Given the description of an element on the screen output the (x, y) to click on. 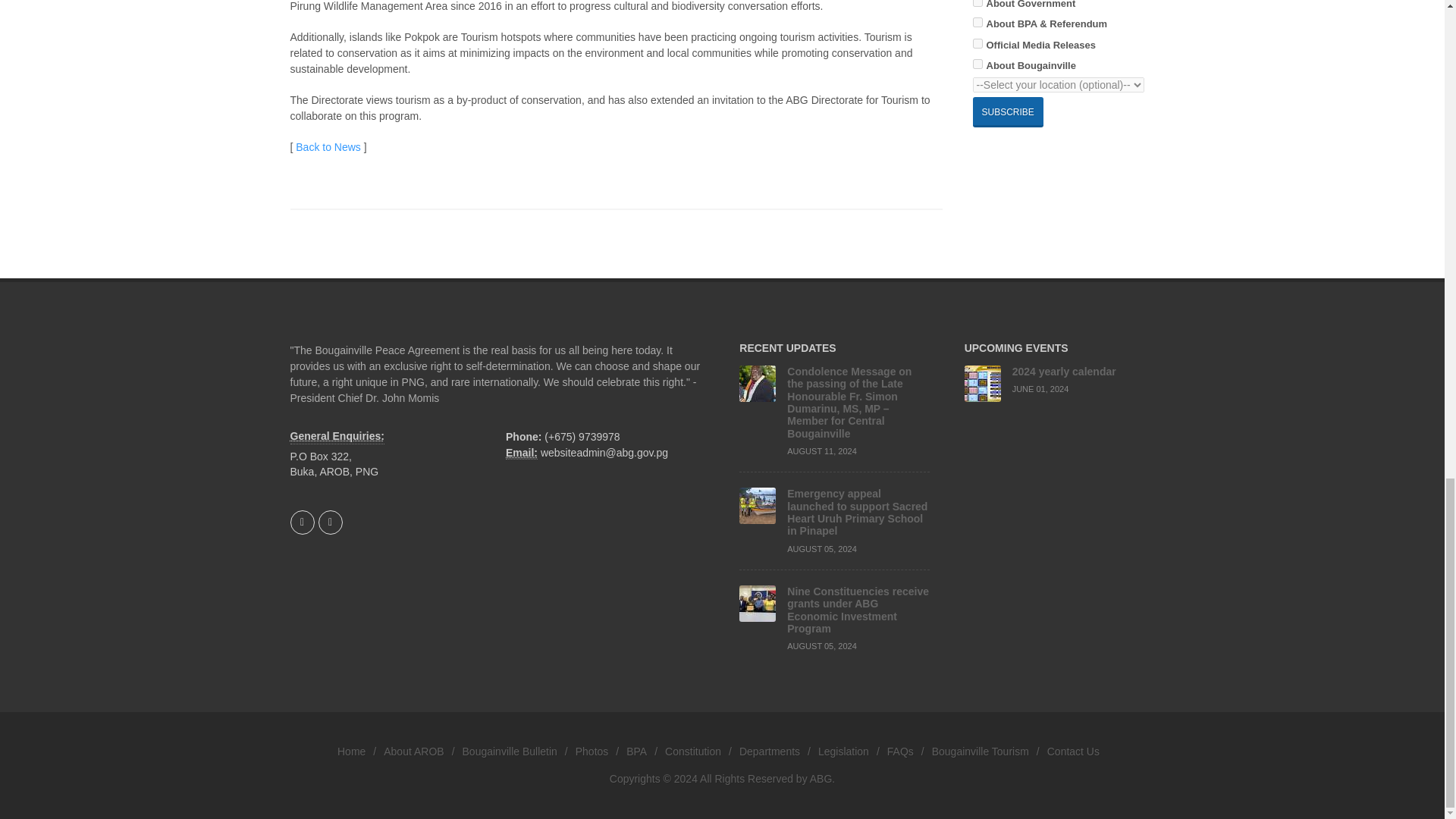
Headquarters (336, 437)
475947 (976, 22)
475950 (976, 63)
475948 (976, 3)
475949 (976, 43)
